Given the description of an element on the screen output the (x, y) to click on. 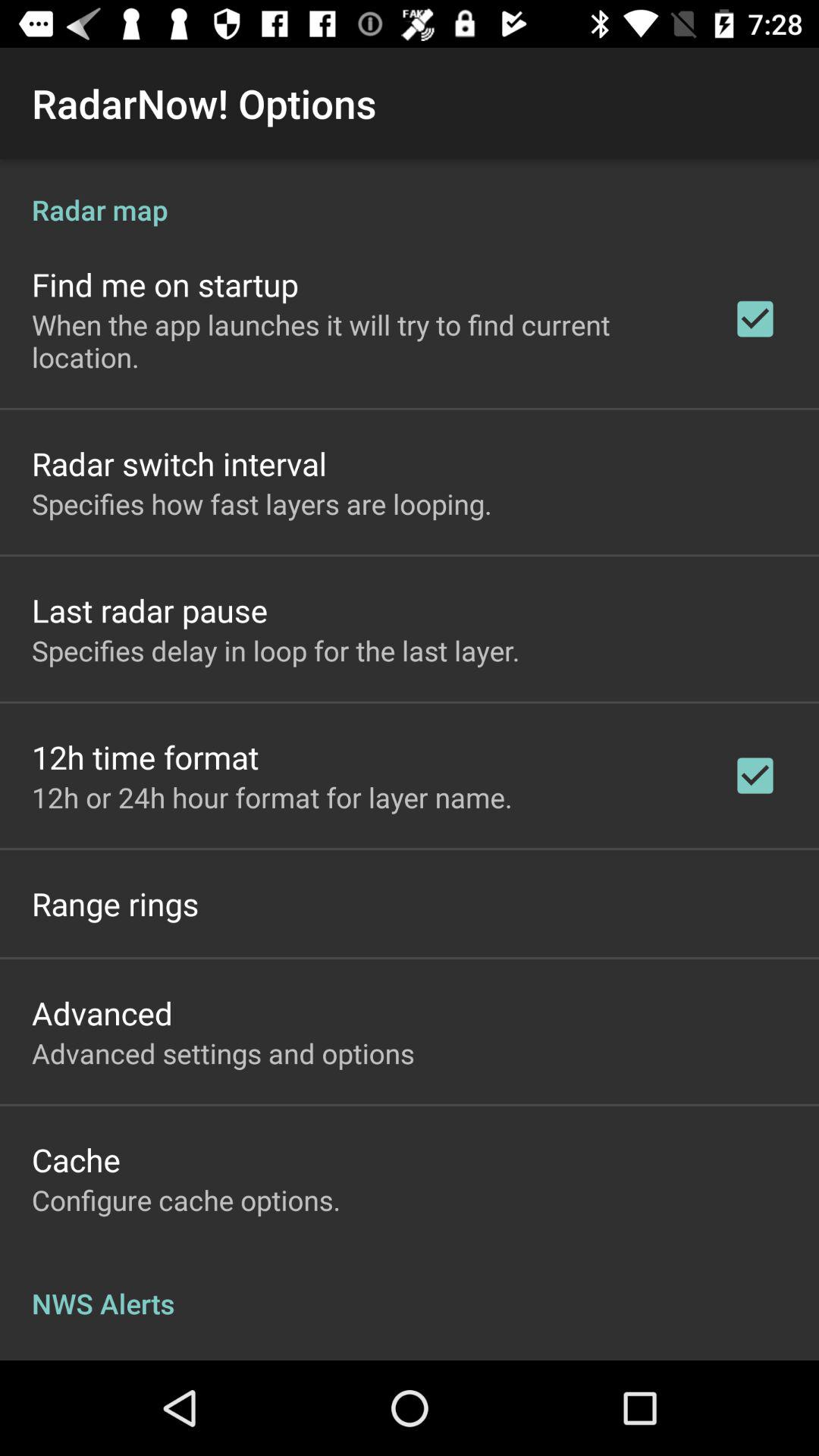
turn on the alerts enabled item (133, 1358)
